Given the description of an element on the screen output the (x, y) to click on. 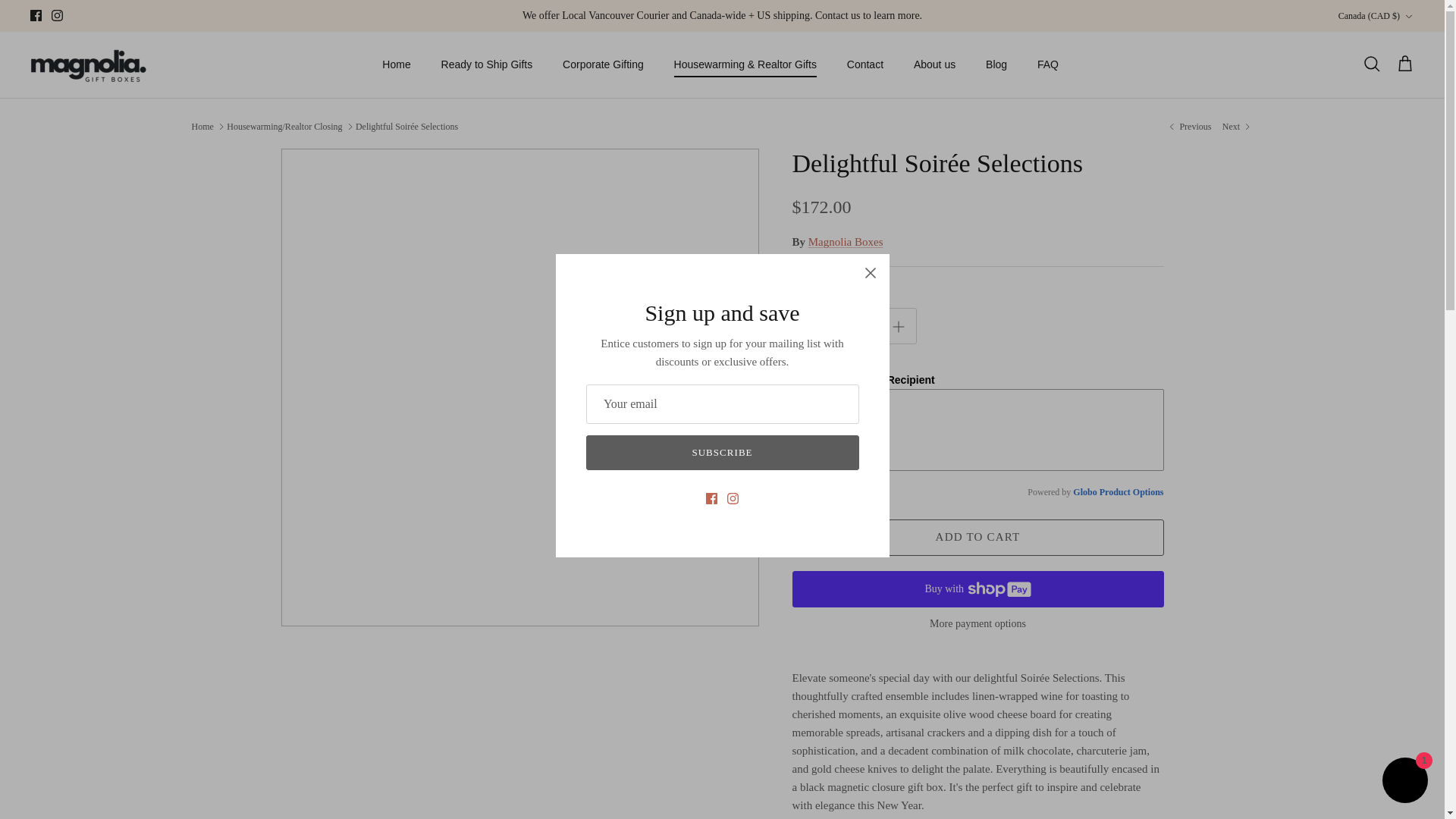
Magnolia Boxes (89, 64)
Home (395, 64)
Ritual Gift Box (1238, 126)
Blog (996, 64)
Cart (1404, 64)
Facebook (36, 15)
FAQ (1047, 64)
Instagram (56, 15)
Search (1371, 64)
Instagram (56, 15)
Corporate Gifting (603, 64)
1 (853, 325)
Contact (864, 64)
Facebook (36, 15)
Cozy Night In (1188, 126)
